Given the description of an element on the screen output the (x, y) to click on. 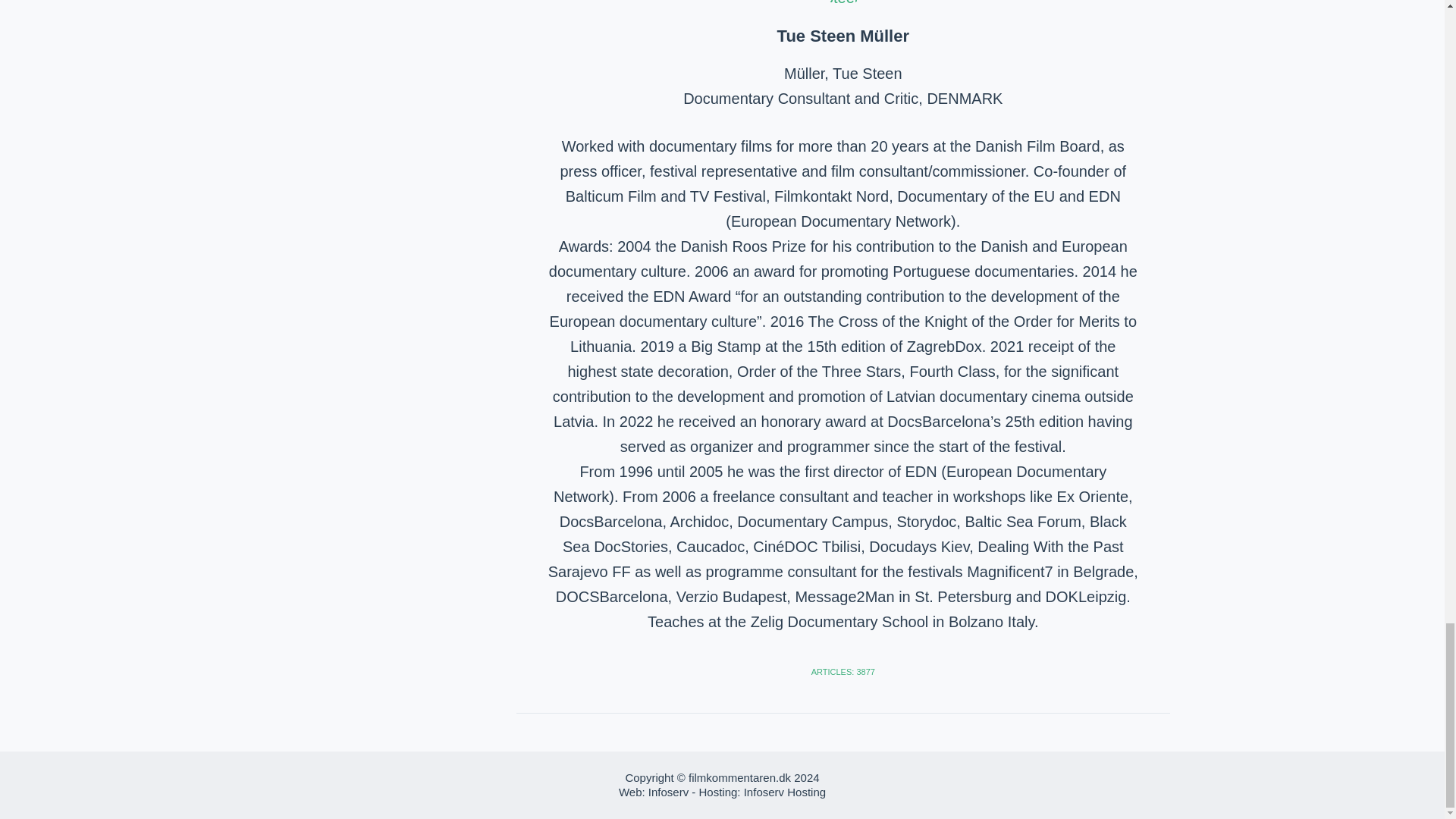
ARTICLES: 3877 (842, 671)
